Given the description of an element on the screen output the (x, y) to click on. 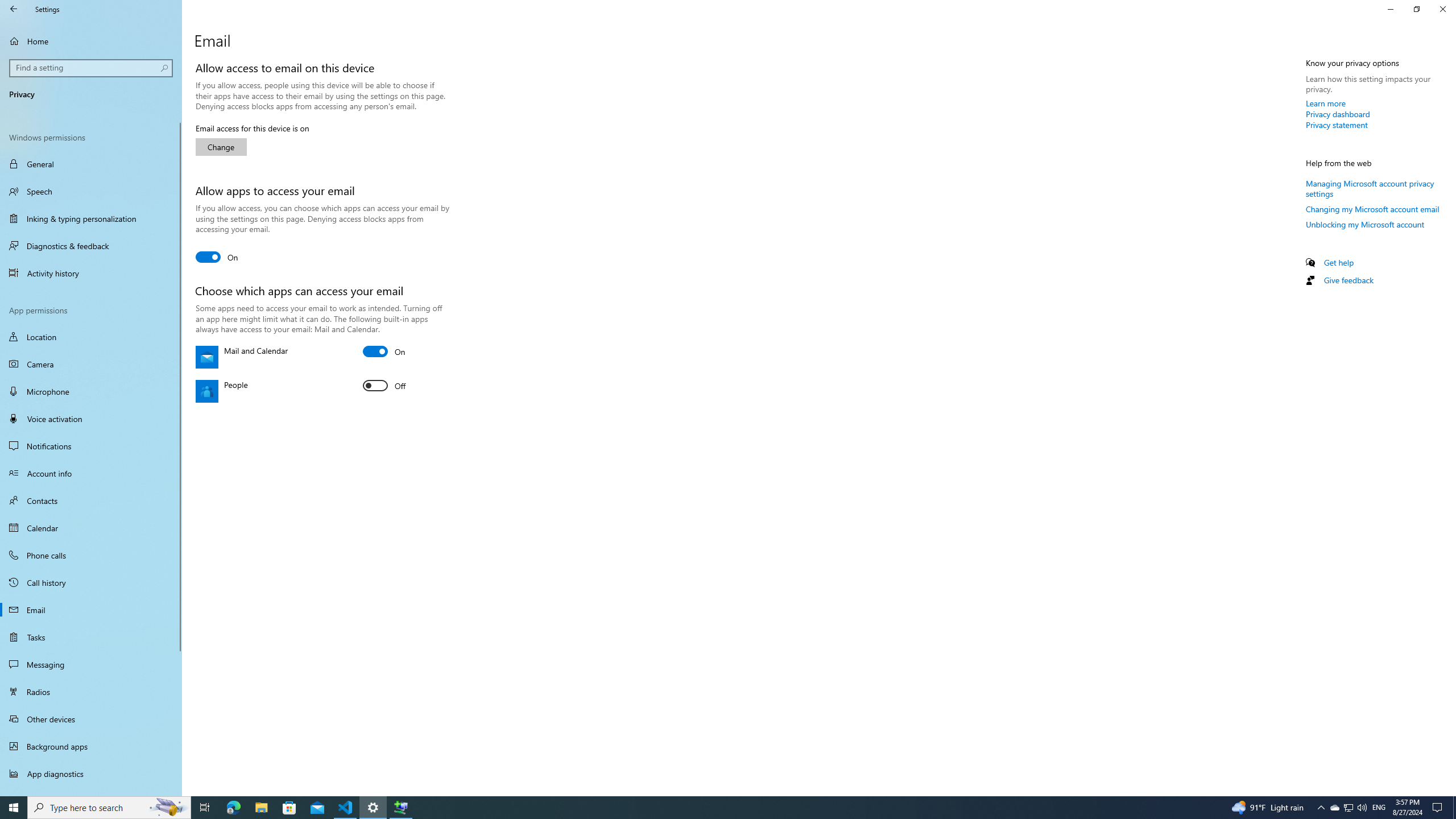
Microsoft Edge (233, 807)
Task View (204, 807)
File Explorer (261, 807)
